Given the description of an element on the screen output the (x, y) to click on. 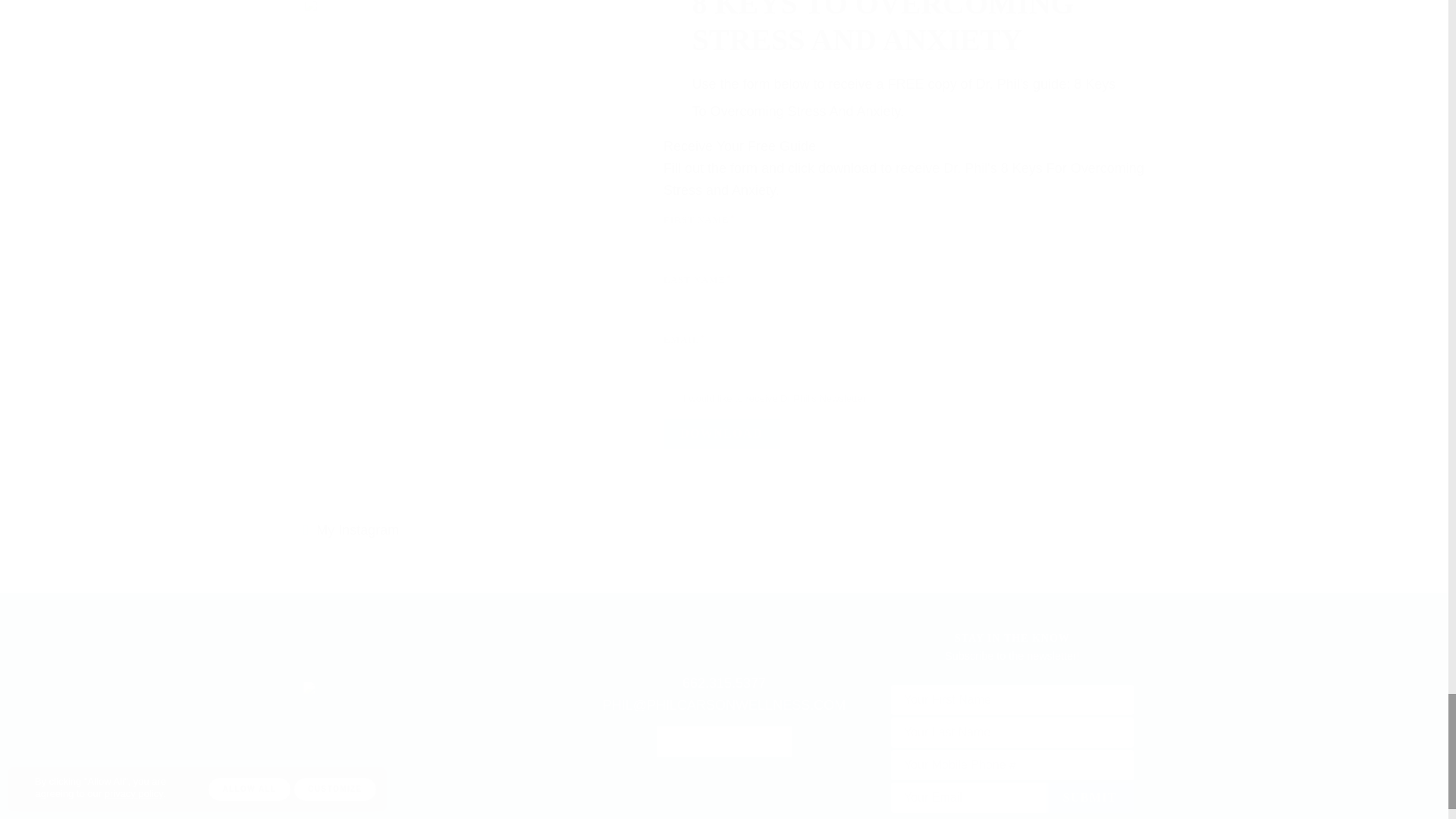
DOWNLOAD (720, 433)
GET IN TOUCH (724, 741)
Submit (1089, 797)
Submit (1089, 797)
